Given the description of an element on the screen output the (x, y) to click on. 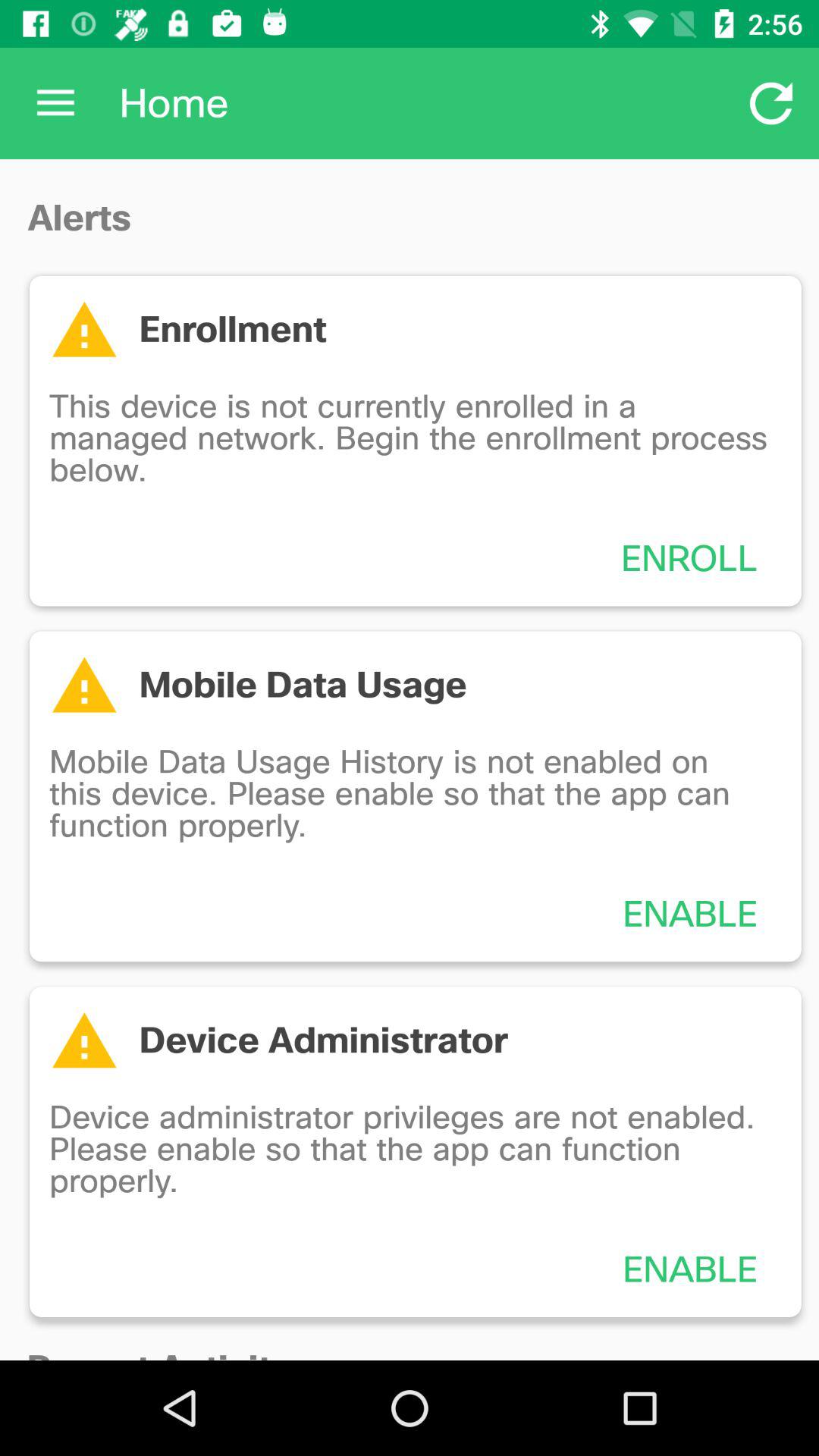
select enroll (689, 558)
